Given the description of an element on the screen output the (x, y) to click on. 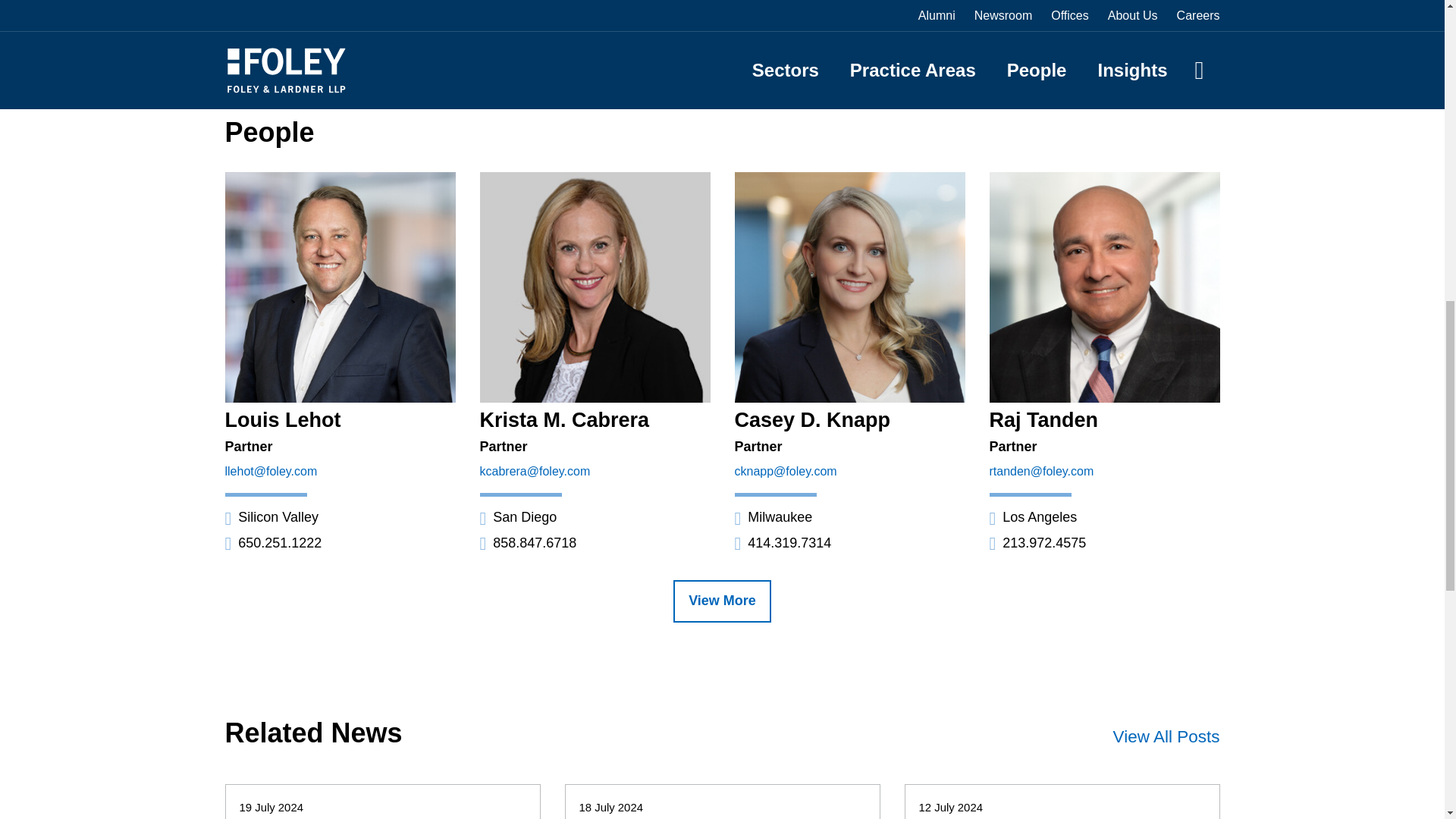
FoleyIgnite.com (564, 20)
